Given the description of an element on the screen output the (x, y) to click on. 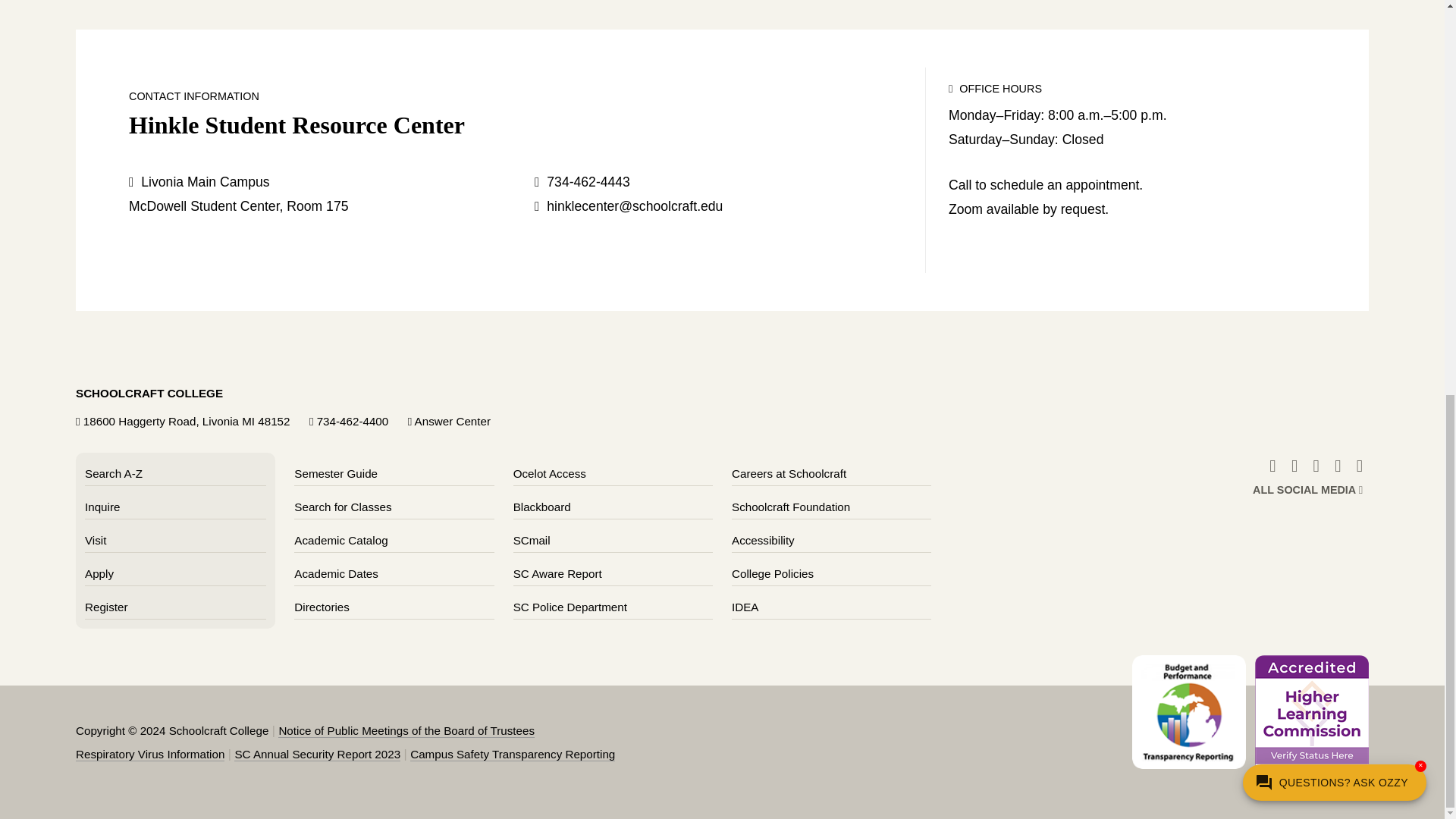
Inquire (101, 506)
Register (106, 606)
Opens a new website (541, 506)
QUESTIONS? ASK OZZY (1334, 20)
Apply (98, 573)
18600 Haggerty Road, Livonia MI 48152 (185, 420)
Opens a new website (531, 540)
Opens a new website (788, 472)
Answer Center (452, 420)
Search A-Z (113, 472)
View a driving map (185, 420)
Opens an inquiry form website (101, 506)
Opens an application website (98, 573)
Website: Accredited Higher Learning Commission (1311, 718)
Semester Guide (335, 472)
